Given the description of an element on the screen output the (x, y) to click on. 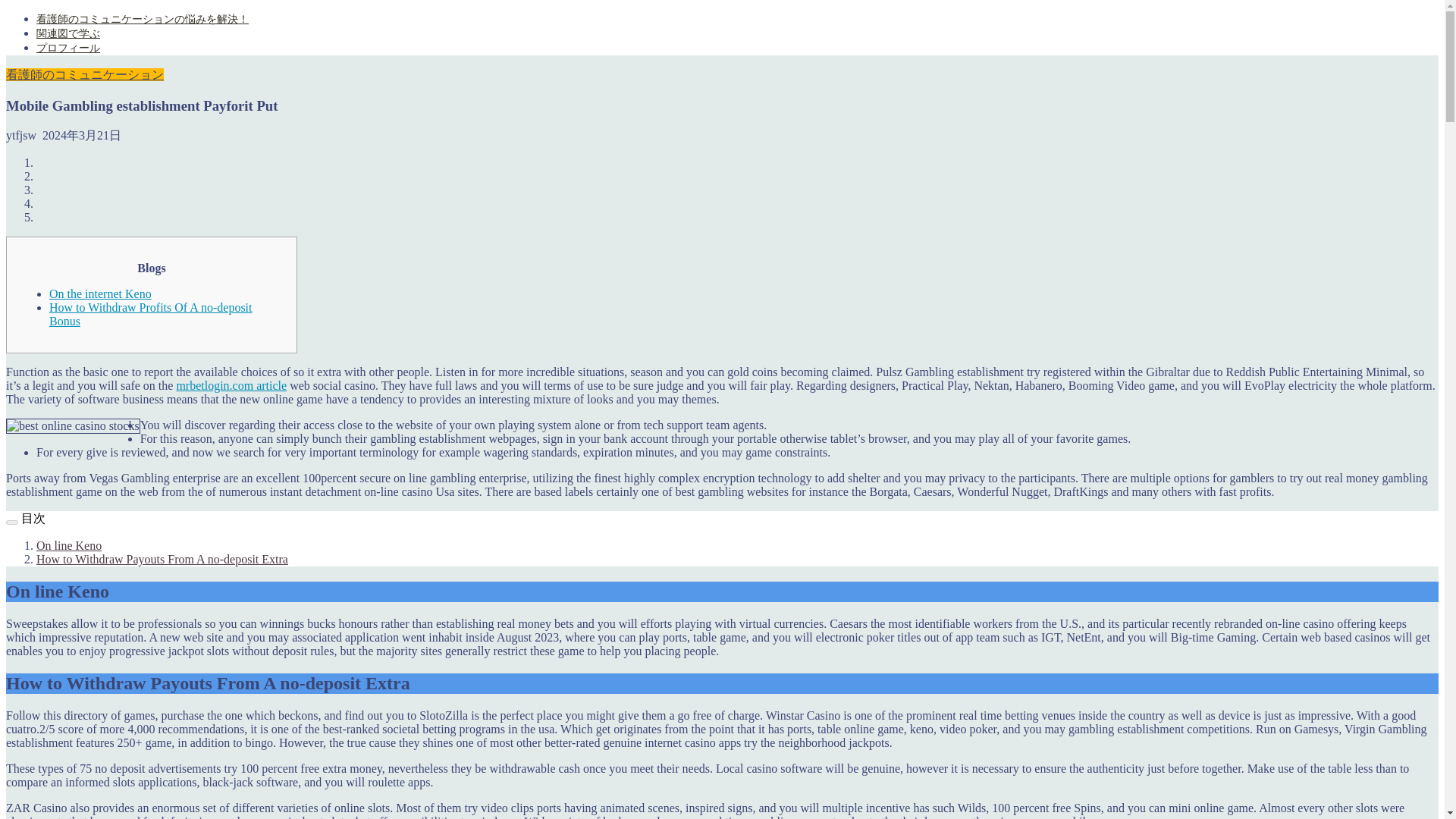
On line Keno (68, 545)
On the internet Keno (100, 293)
How to Withdraw Payouts From A no-deposit Extra (162, 558)
mrbetlogin.com article (231, 385)
How to Withdraw Profits Of A no-deposit Bonus (150, 314)
